Given the description of an element on the screen output the (x, y) to click on. 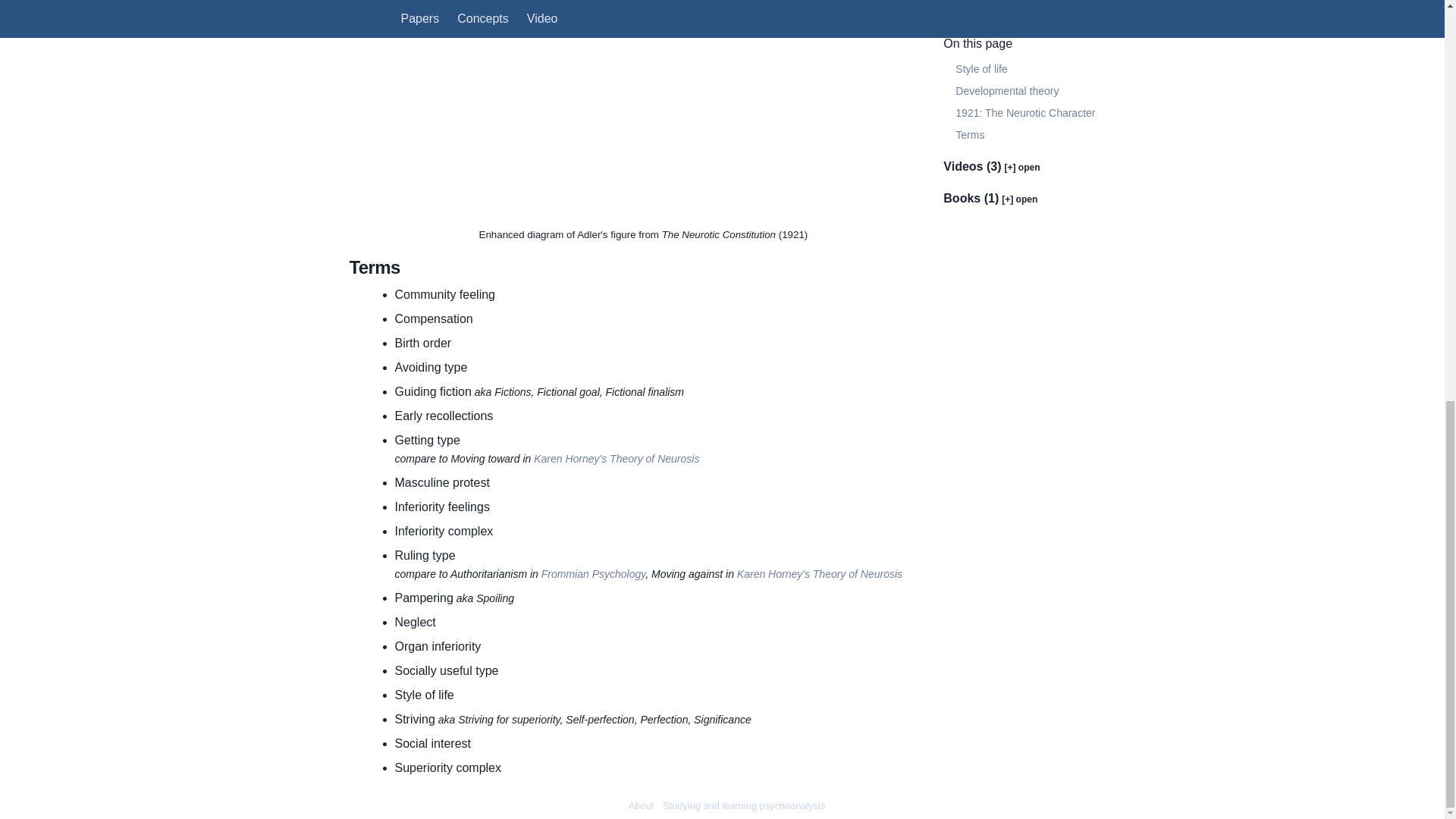
Karen Horney's Theory of Neurosis (819, 573)
About (640, 804)
Karen Horney's Theory of Neurosis (616, 458)
Studying and learning psychoanalysis (743, 804)
Frommian Psychology (593, 573)
